Given the description of an element on the screen output the (x, y) to click on. 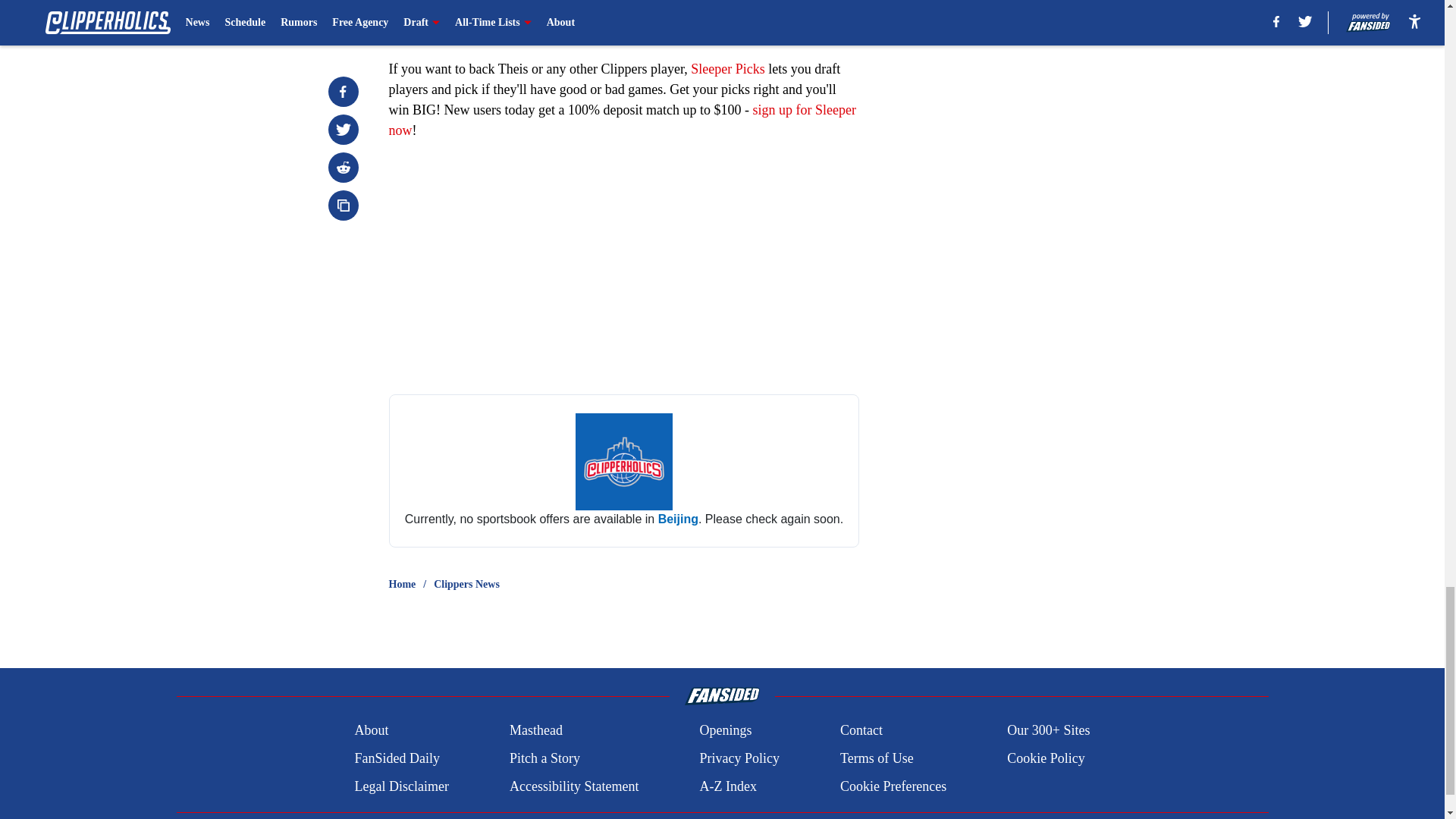
tallysight (623, 470)
Clippers News (466, 584)
Sleeper Picks (727, 68)
Home (401, 584)
About (370, 730)
Masthead (535, 730)
Openings (724, 730)
sign up for Sleeper now (622, 120)
